Given the description of an element on the screen output the (x, y) to click on. 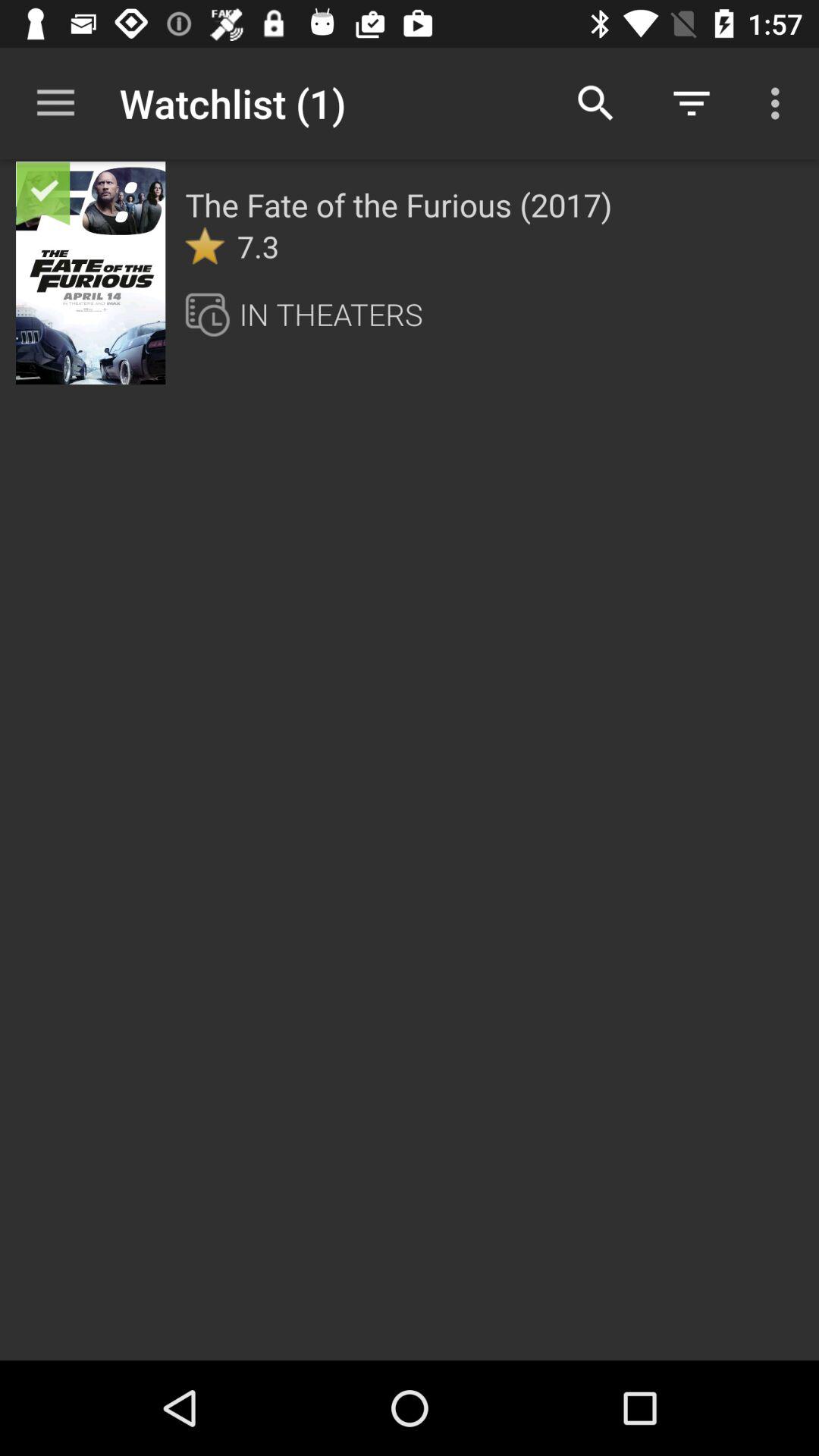
turn off the item next to the in theaters (212, 314)
